Given the description of an element on the screen output the (x, y) to click on. 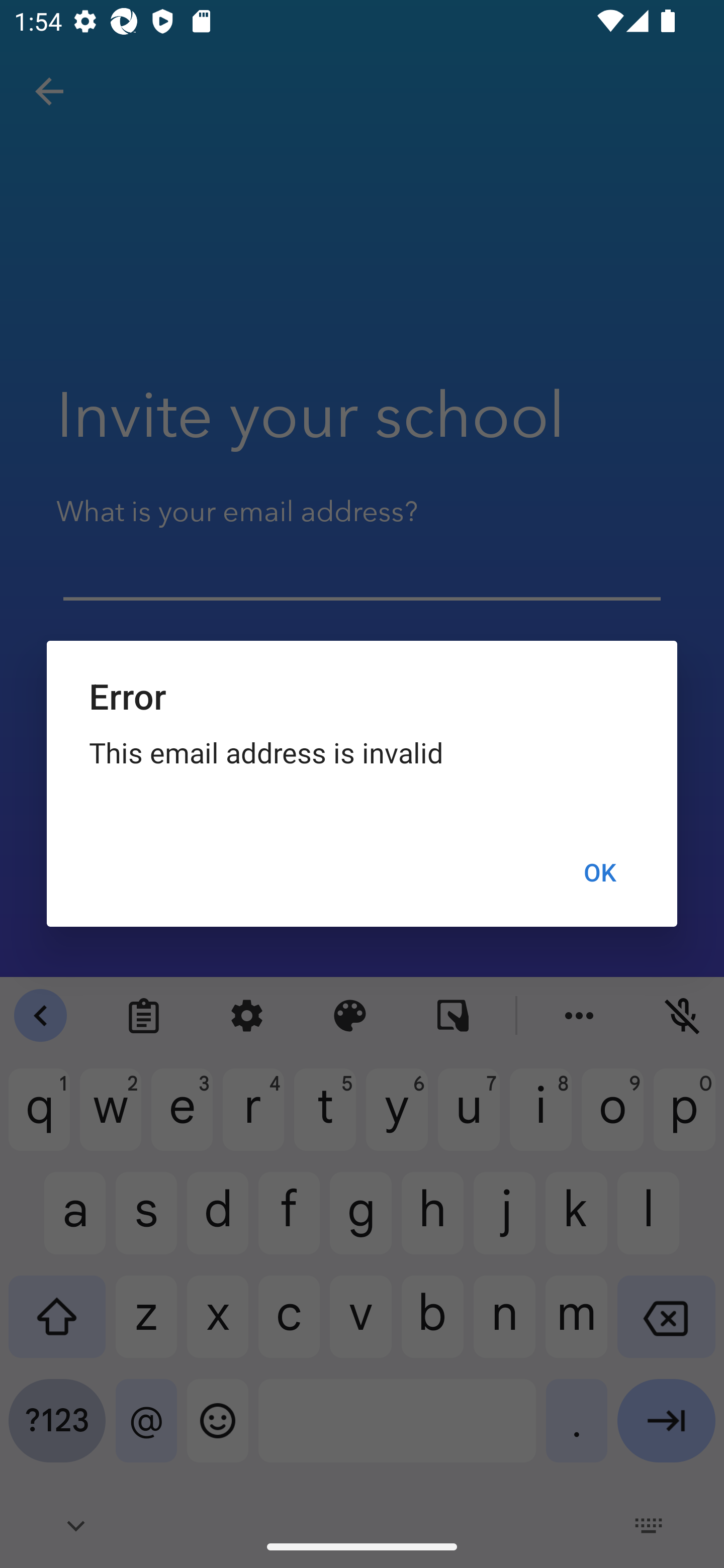
OK (599, 872)
